Given the description of an element on the screen output the (x, y) to click on. 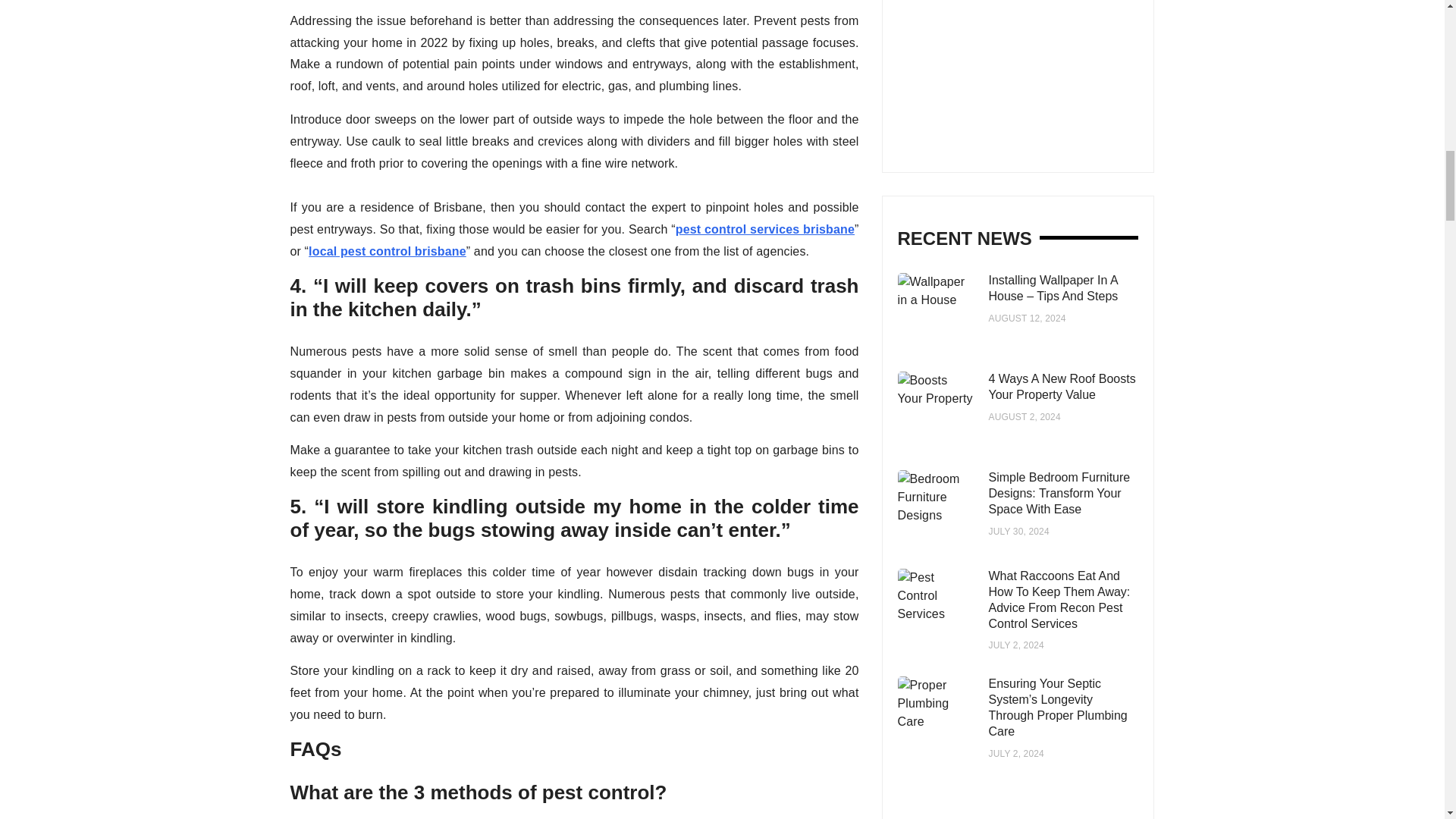
pest control services brisbane (764, 228)
local pest control brisbane (386, 250)
Advertisement (1025, 68)
